Given the description of an element on the screen output the (x, y) to click on. 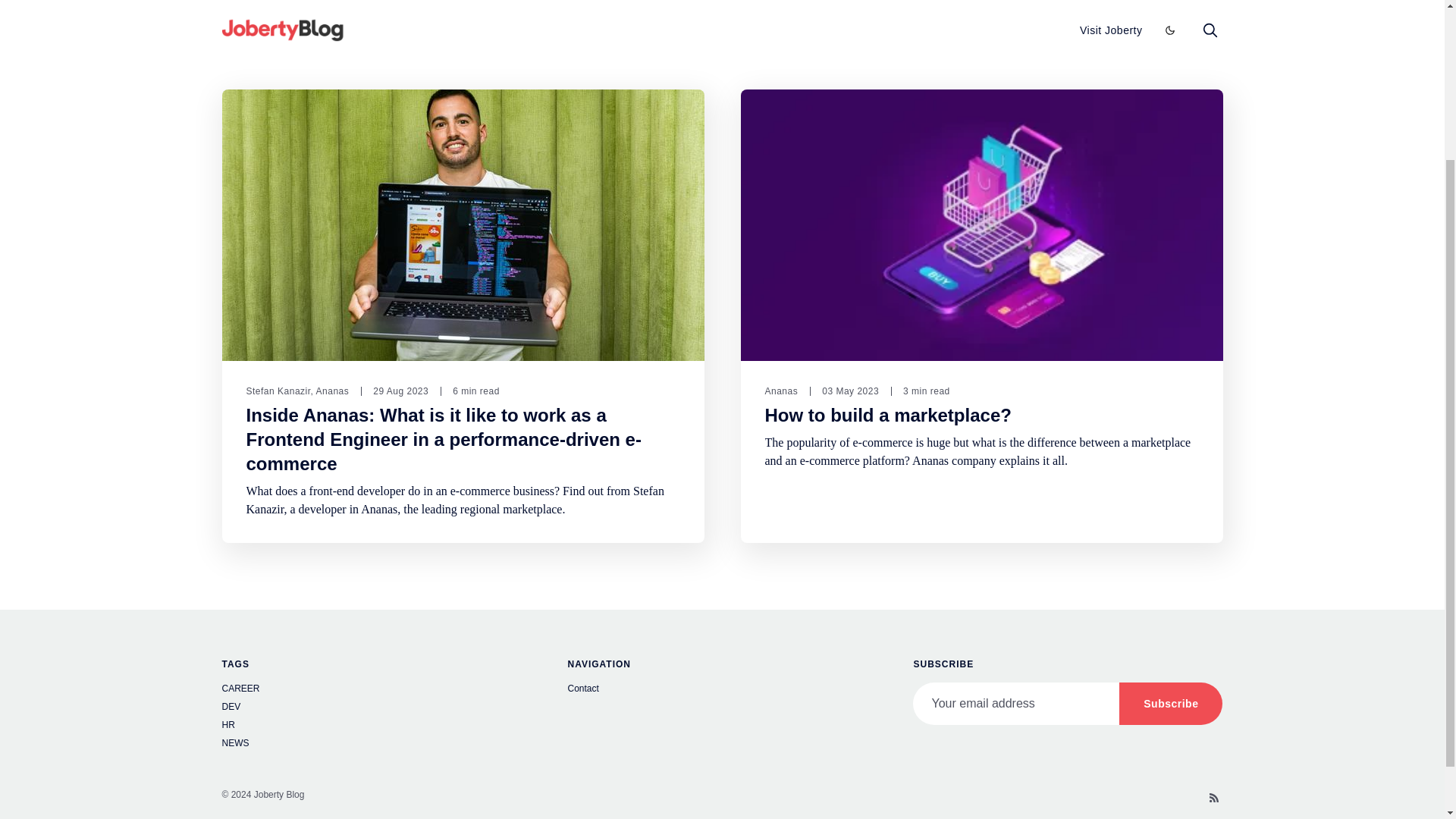
Contact (721, 689)
NEWS (376, 744)
Subscribe (1171, 703)
CAREER (376, 689)
Ananas (780, 390)
How to build a marketplace? (887, 414)
RSS (1213, 797)
HR (376, 726)
DEV (376, 708)
